Given the description of an element on the screen output the (x, y) to click on. 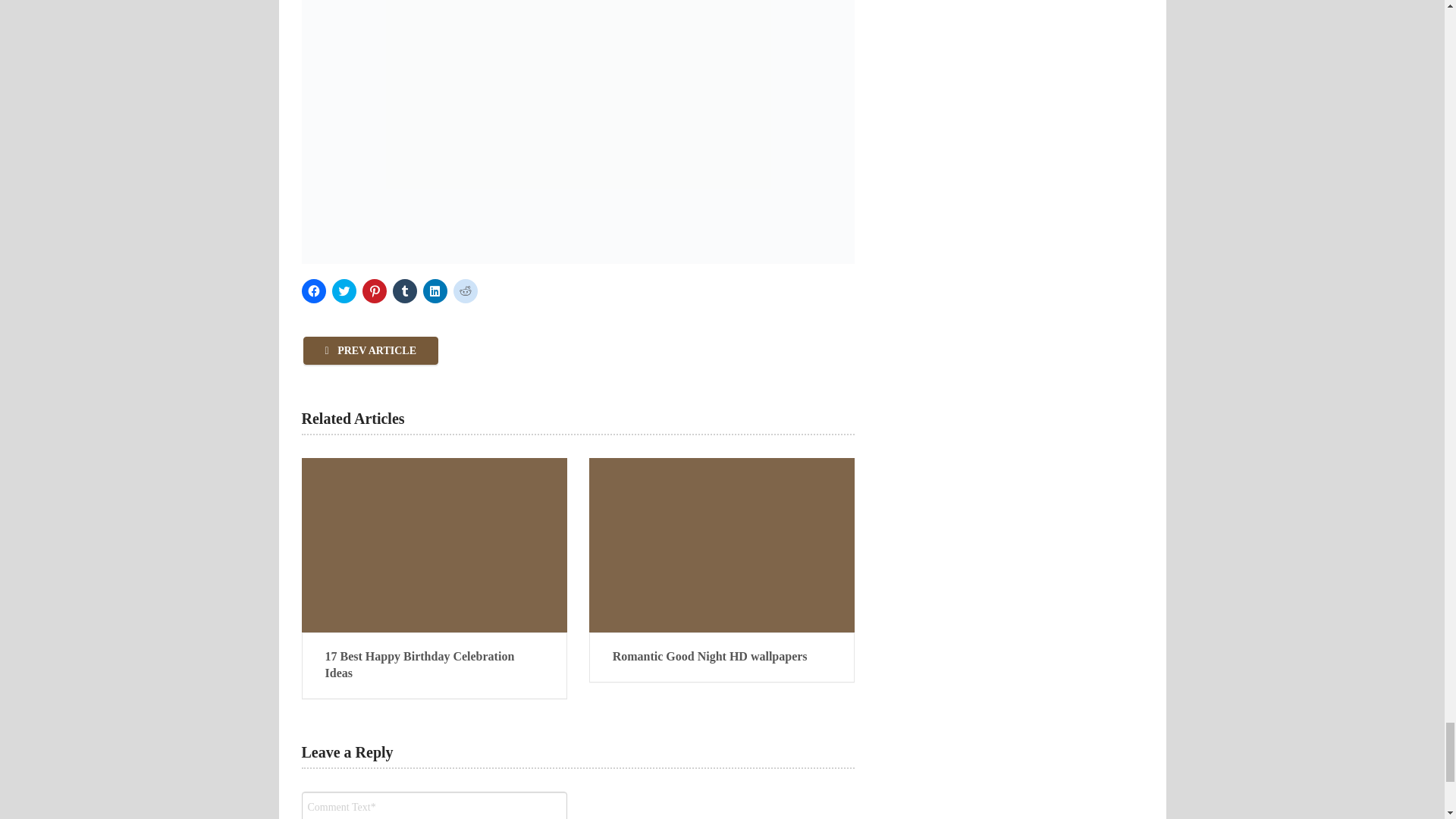
Romantic Good Night HD wallpapers (721, 656)
Romantic Good Night HD wallpapers (721, 544)
17 Best Happy Birthday Celebration Ideas (434, 544)
17 Best Happy Birthday Celebration Ideas (433, 665)
17 Best Happy Birthday Celebration Ideas (433, 665)
Click to share on LinkedIn (434, 291)
Click to share on Reddit (464, 291)
Romantic Good Night HD wallpapers (721, 656)
Click to share on Tumblr (404, 291)
PREV ARTICLE (370, 350)
